Given the description of an element on the screen output the (x, y) to click on. 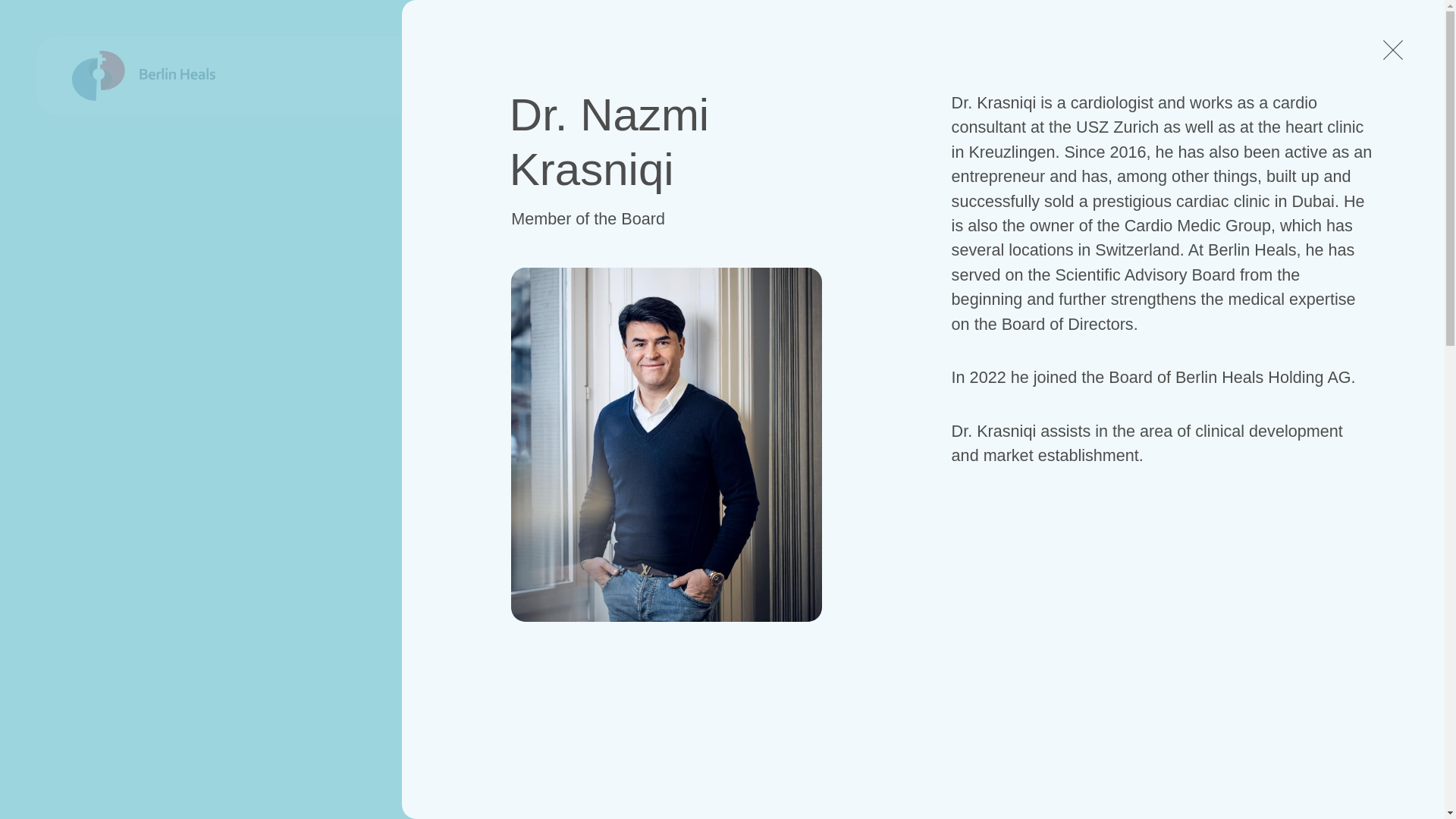
Heart Failure (685, 74)
Our Solution (550, 74)
Contact (1344, 73)
Studies (801, 74)
About us (1056, 74)
